Given the description of an element on the screen output the (x, y) to click on. 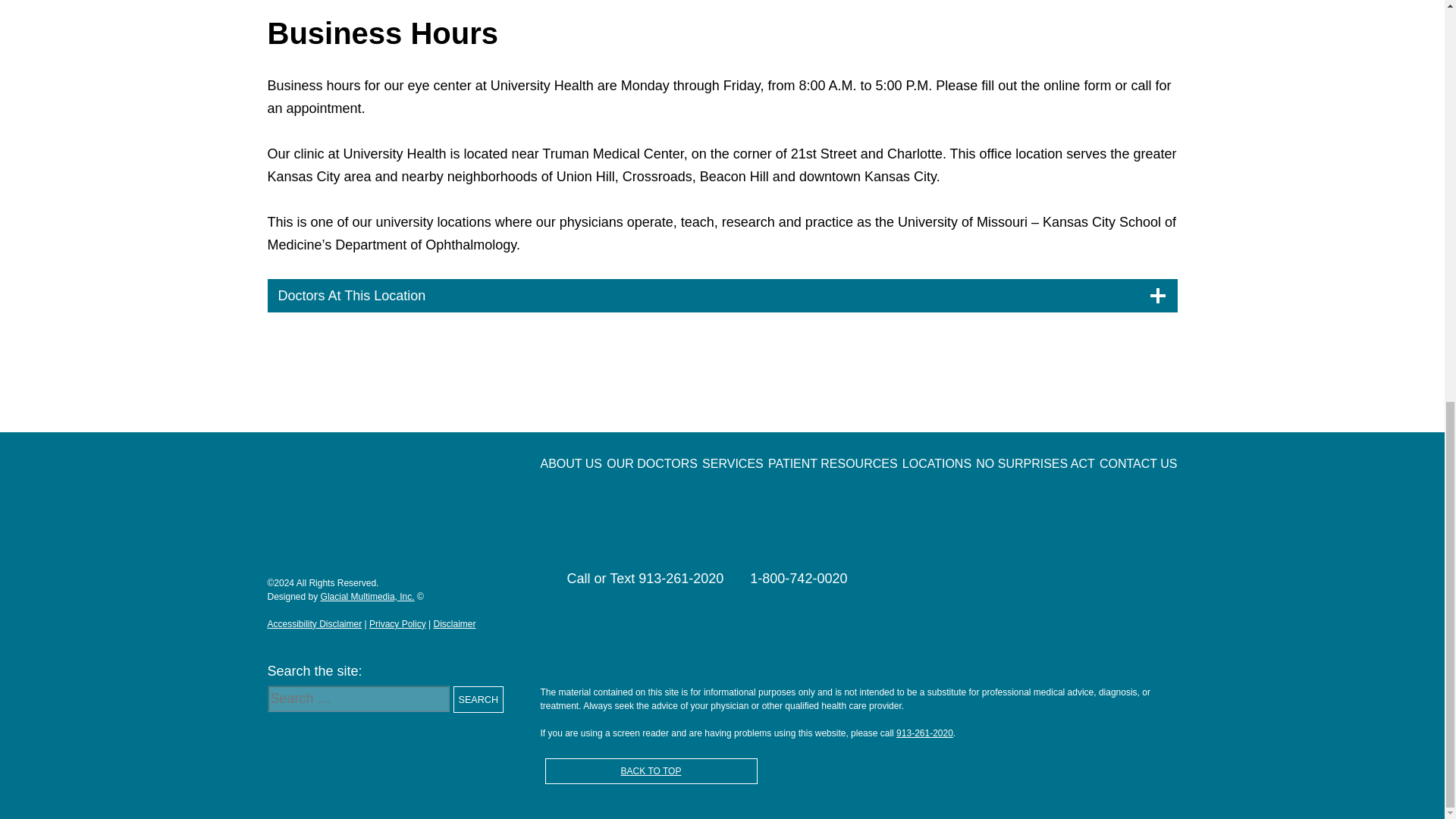
Search (477, 699)
Search (477, 699)
